Given the description of an element on the screen output the (x, y) to click on. 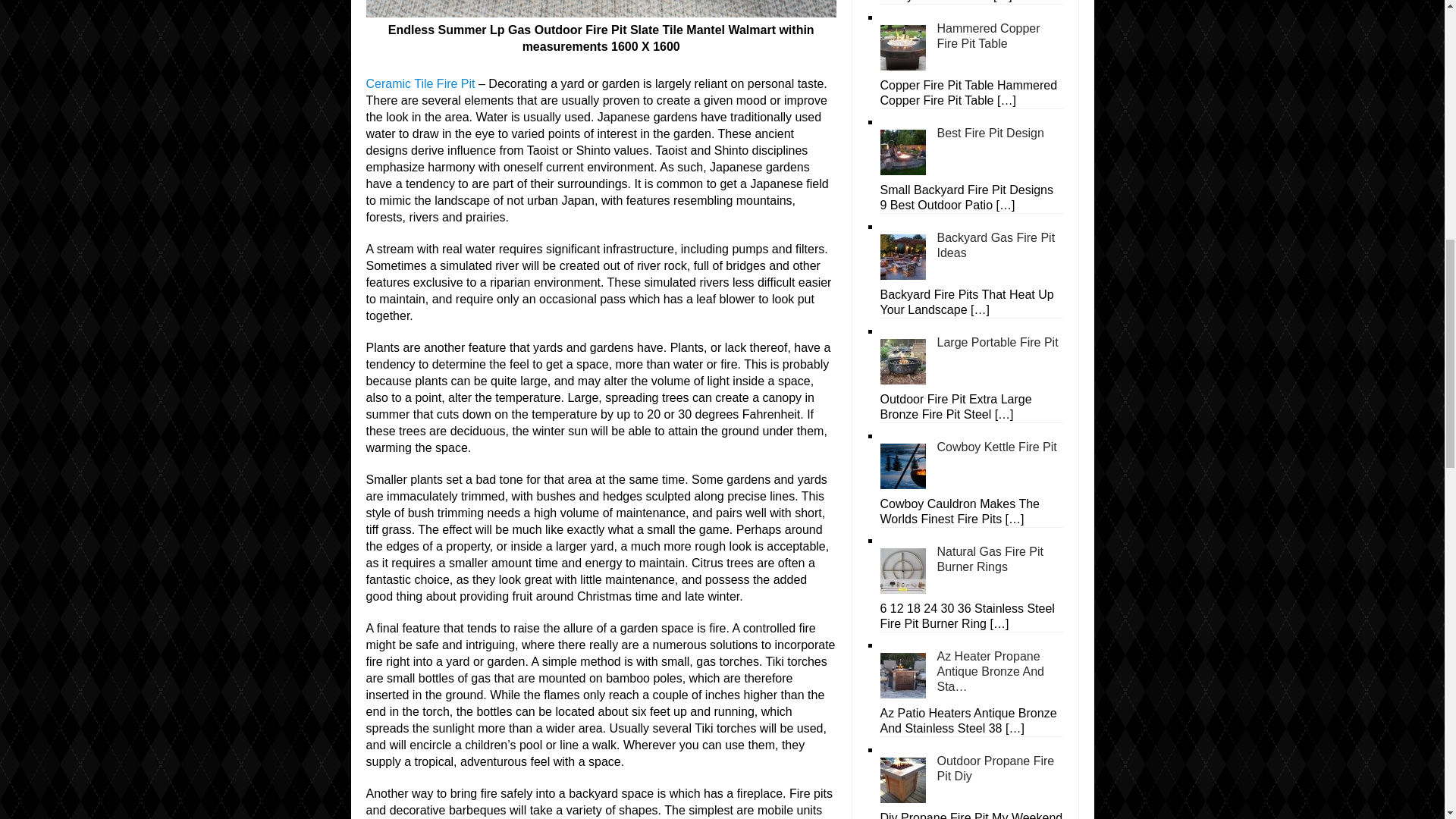
Ceramic Tile Fire Pit (419, 83)
